Given the description of an element on the screen output the (x, y) to click on. 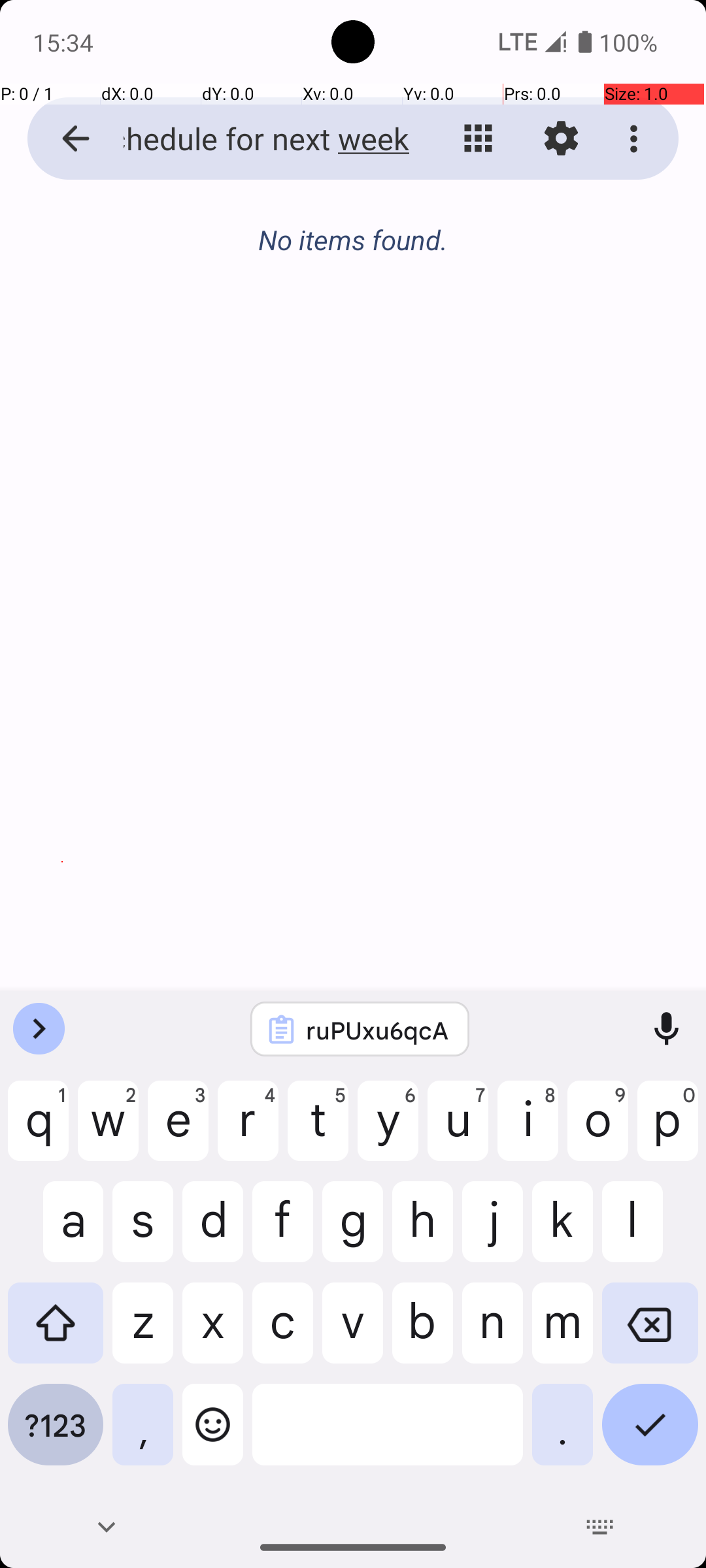
Meeting schedule for next week Element type: android.widget.EditText (252, 138)
08:00 AM Element type: android.widget.TextView (62, 348)
09:00 AM Element type: android.widget.TextView (62, 451)
10:00 AM Element type: android.widget.TextView (62, 554)
11:00 AM Element type: android.widget.TextView (62, 656)
12:00 PM Element type: android.widget.TextView (62, 759)
01:00 PM Element type: android.widget.TextView (62, 861)
02:00 PM Element type: android.widget.TextView (62, 915)
ruPUxu6qcA Element type: android.widget.TextView (376, 1029)
